Given the description of an element on the screen output the (x, y) to click on. 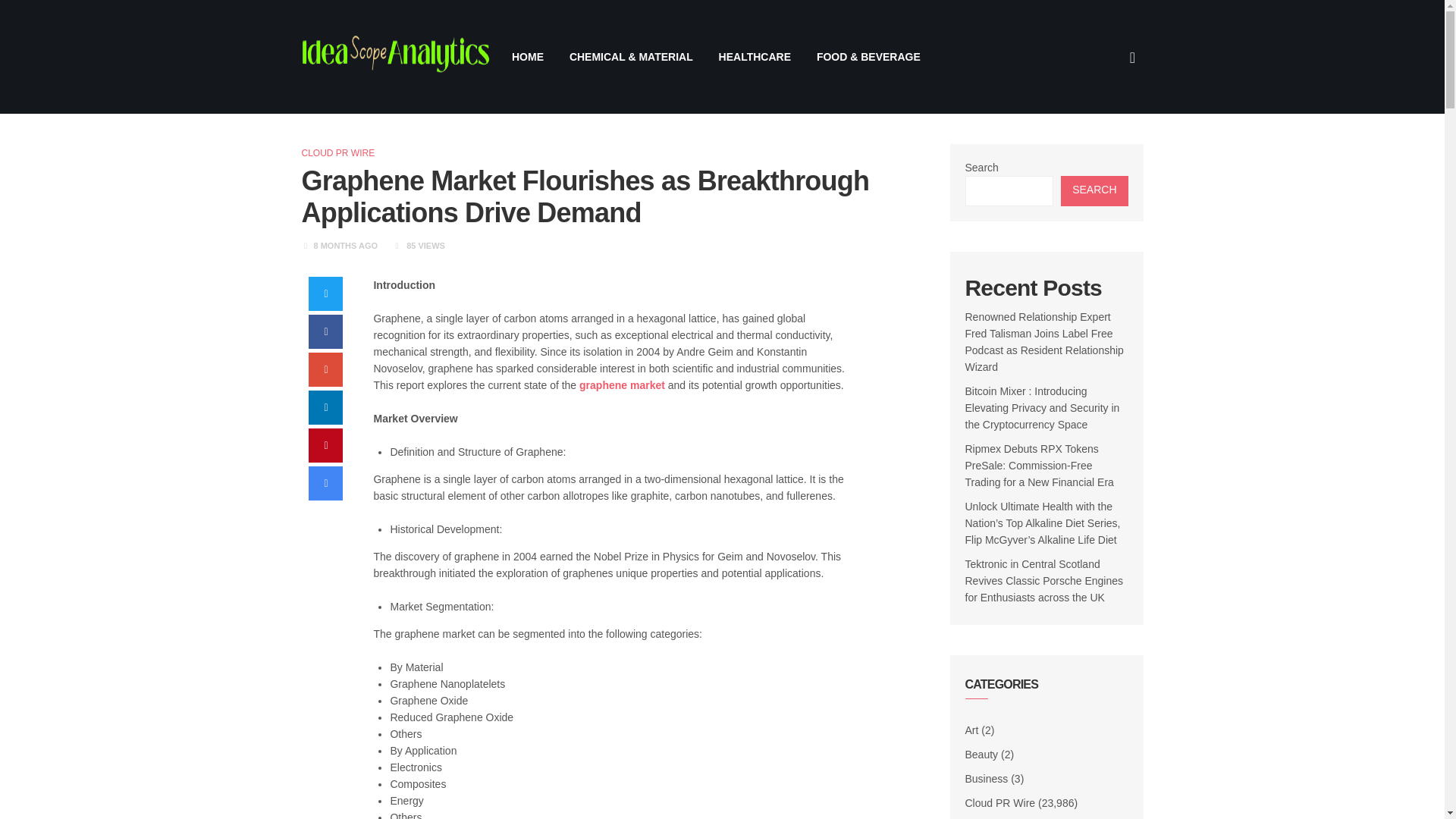
LinkedIn (325, 407)
Pinterest (325, 445)
graphene market (622, 385)
Twitter (325, 293)
85 VIEWS (425, 245)
Facebook (325, 331)
HEALTHCARE (754, 56)
HOME (527, 56)
8 MONTHS (335, 245)
CLOUD PR WIRE (338, 153)
Email (325, 483)
